Given the description of an element on the screen output the (x, y) to click on. 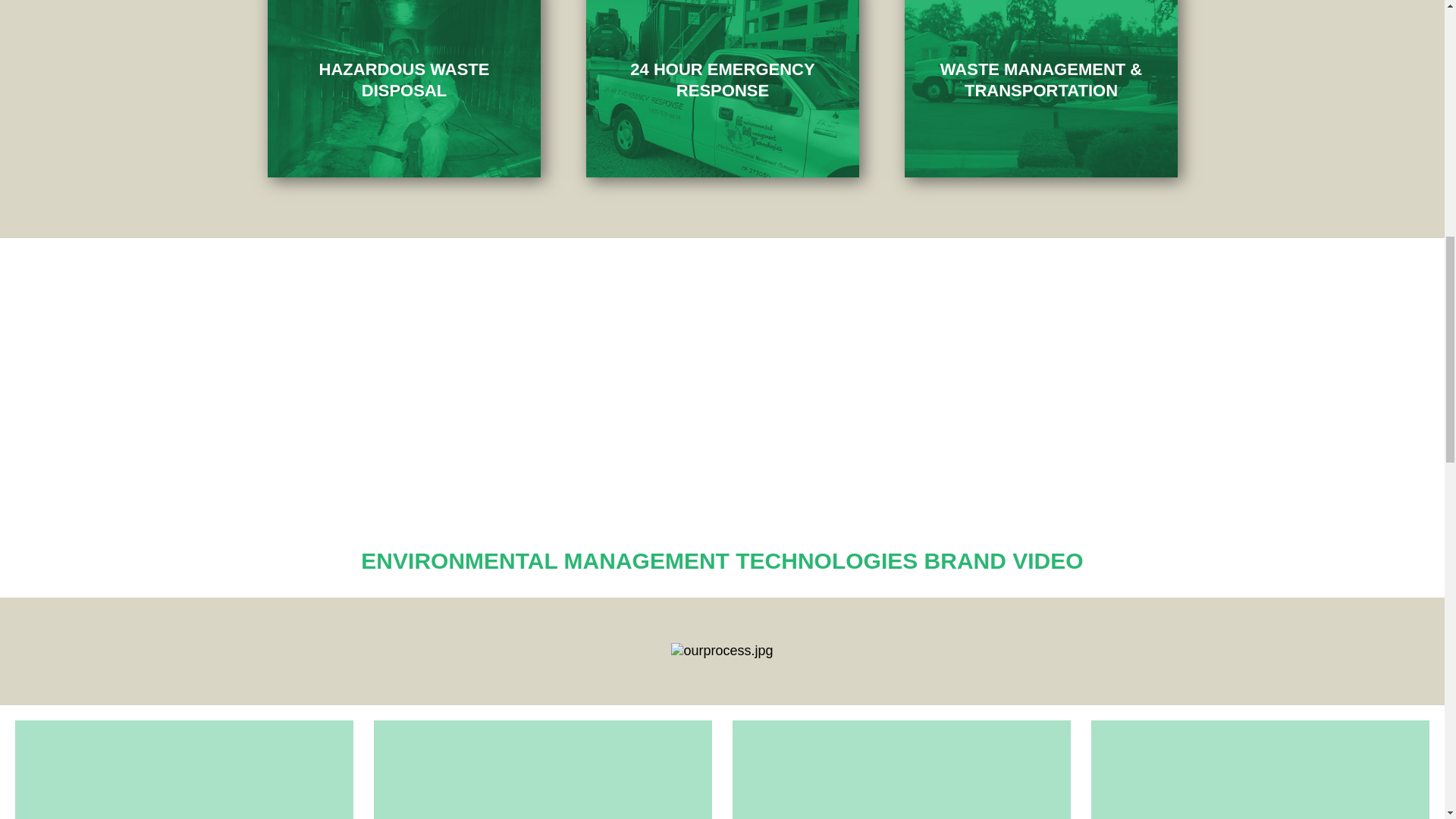
YouTube video player (721, 402)
24 HOUR EMERGENCY RESPONSE (722, 78)
HAZARDOUS WASTE DISPOSAL (403, 78)
